Given the description of an element on the screen output the (x, y) to click on. 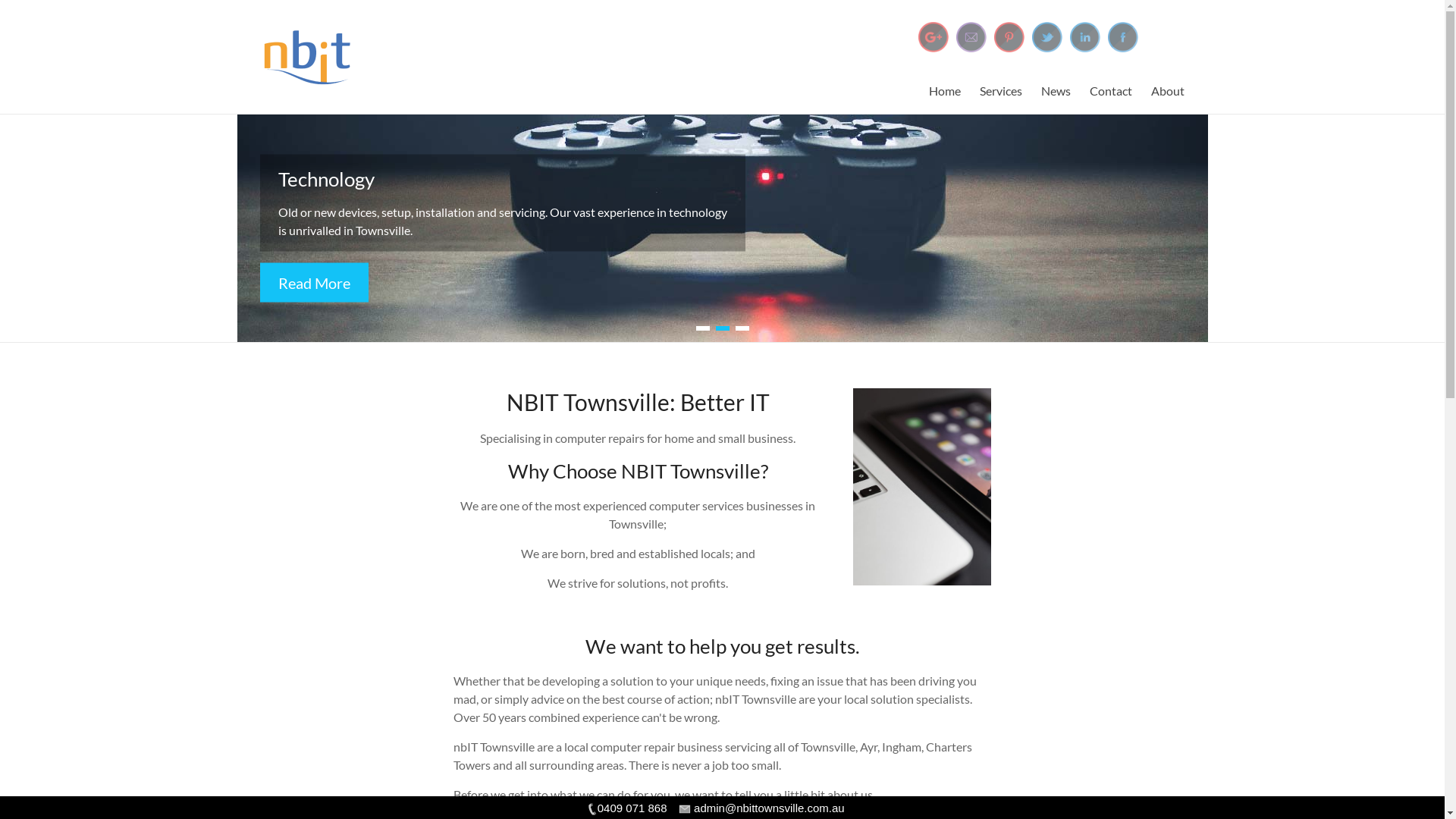
0409 071 868 Element type: text (626, 807)
Contact Element type: text (1109, 90)
About Element type: text (1167, 90)
design Element type: hover (922, 486)
Facebook Element type: hover (1122, 36)
NBIT Townsville Element type: text (463, 32)
Services Element type: text (1000, 90)
admin@nbittownsville.com.au Element type: text (763, 807)
PINTEREST Element type: hover (1008, 36)
Follow by Email Element type: hover (970, 36)
Home Element type: text (944, 90)
Technology Element type: text (326, 178)
Twitter Element type: hover (1046, 36)
Google+ Element type: hover (932, 36)
Read More Element type: text (314, 281)
News Element type: text (1055, 90)
LinkedIn Element type: hover (1084, 36)
